Given the description of an element on the screen output the (x, y) to click on. 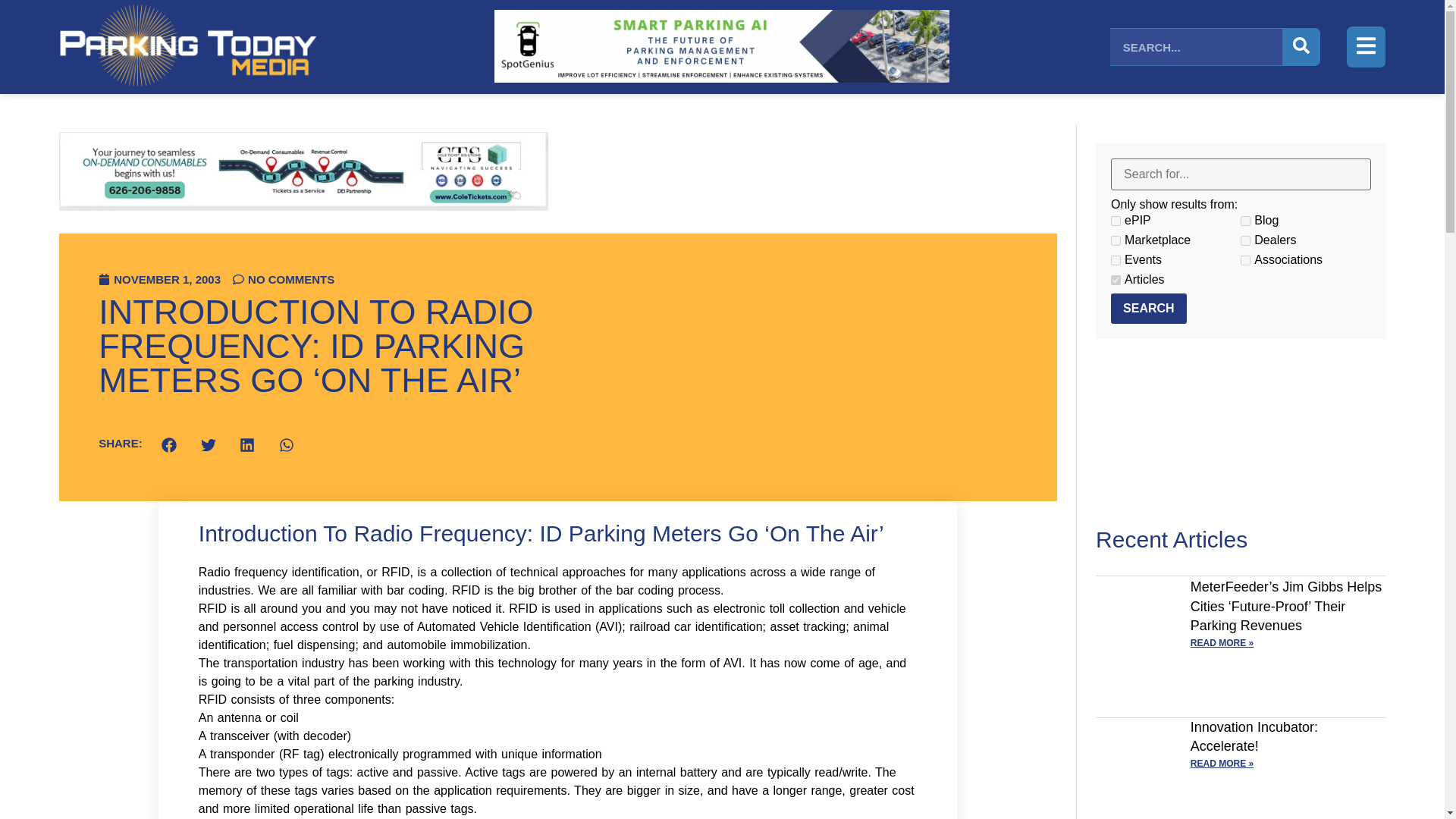
Blog (1245, 221)
Associations (1245, 260)
Articles (1115, 280)
NO COMMENTS (283, 279)
Search (1148, 308)
Search (1148, 308)
Events (1115, 260)
Marketplace (1115, 240)
Innovation Incubator: Accelerate! (1254, 736)
ePIP (1115, 221)
